Given the description of an element on the screen output the (x, y) to click on. 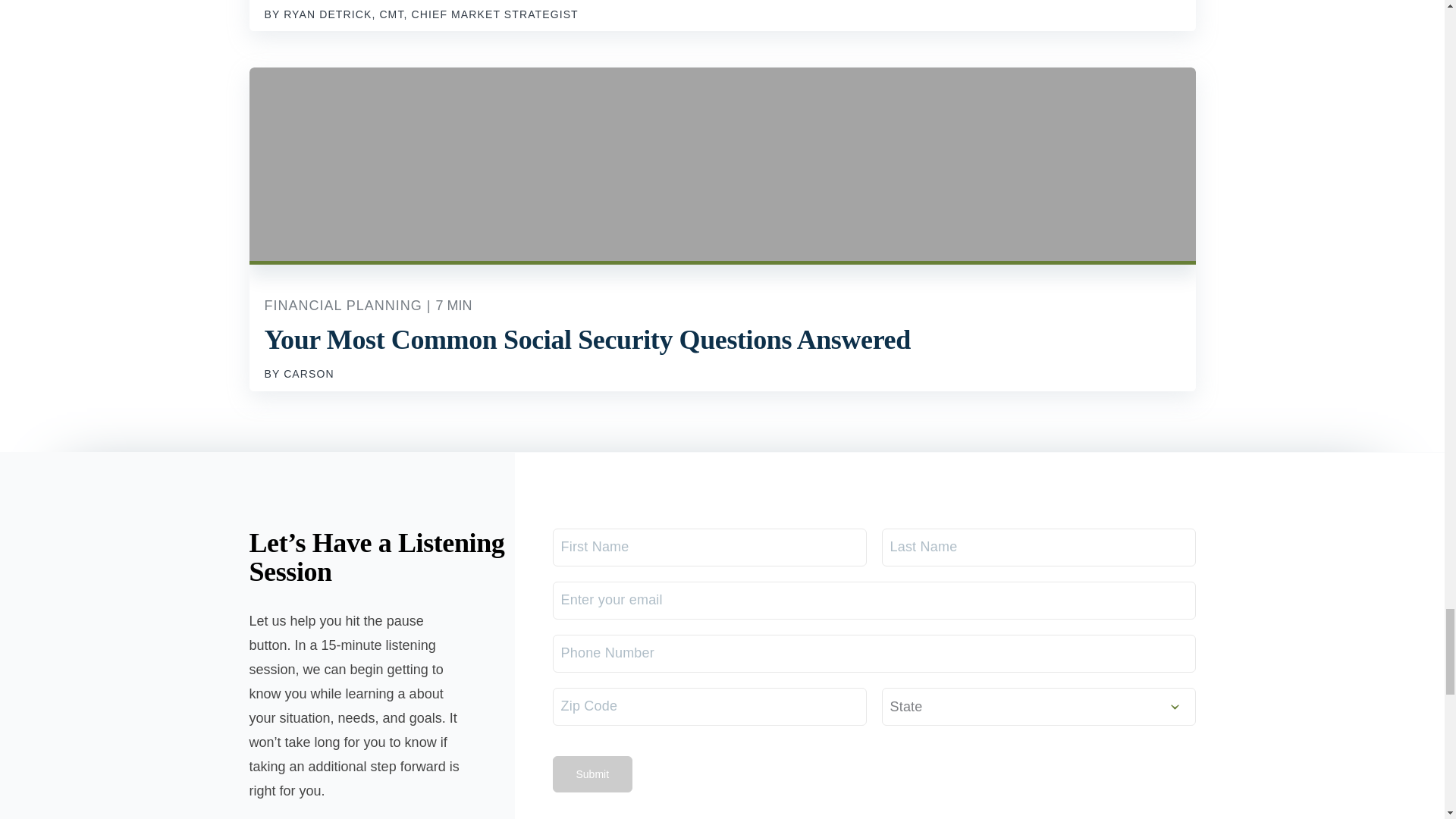
Submit (591, 773)
